Given the description of an element on the screen output the (x, y) to click on. 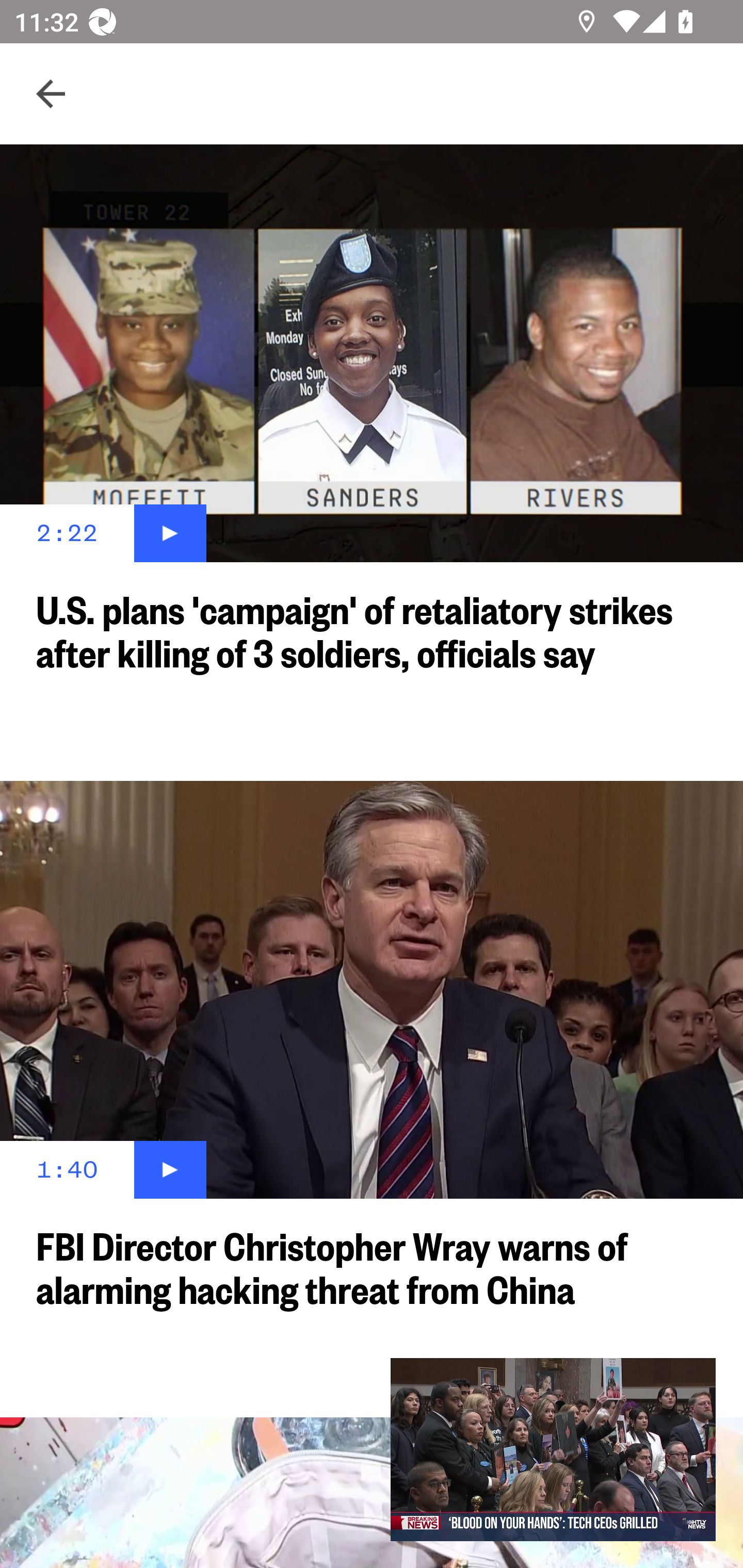
Navigate up (50, 93)
